Given the description of an element on the screen output the (x, y) to click on. 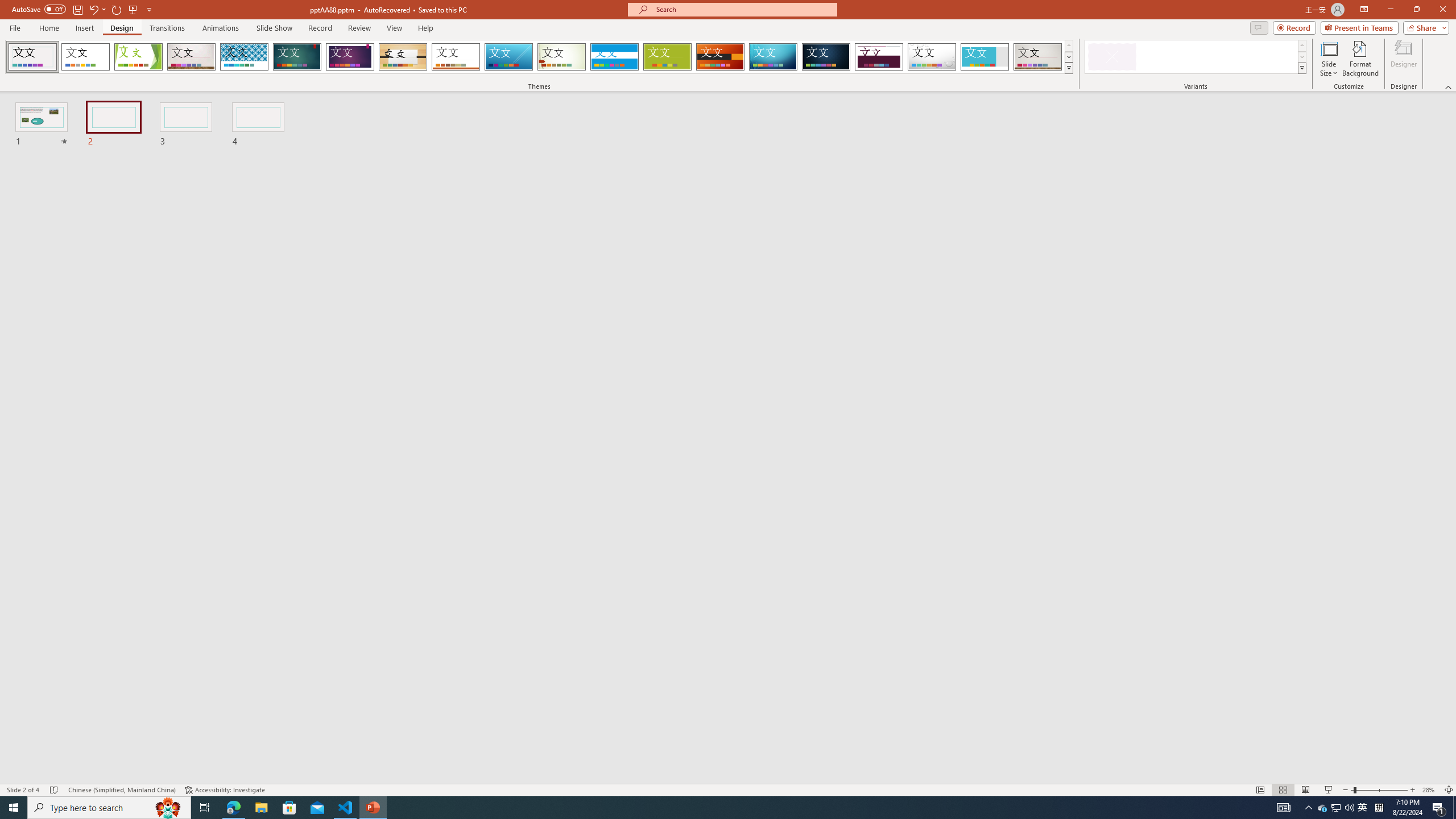
Wisp Loading Preview... (561, 56)
Frame Loading Preview... (984, 56)
Damask Loading Preview... (826, 56)
Circuit Loading Preview... (772, 56)
